Given the description of an element on the screen output the (x, y) to click on. 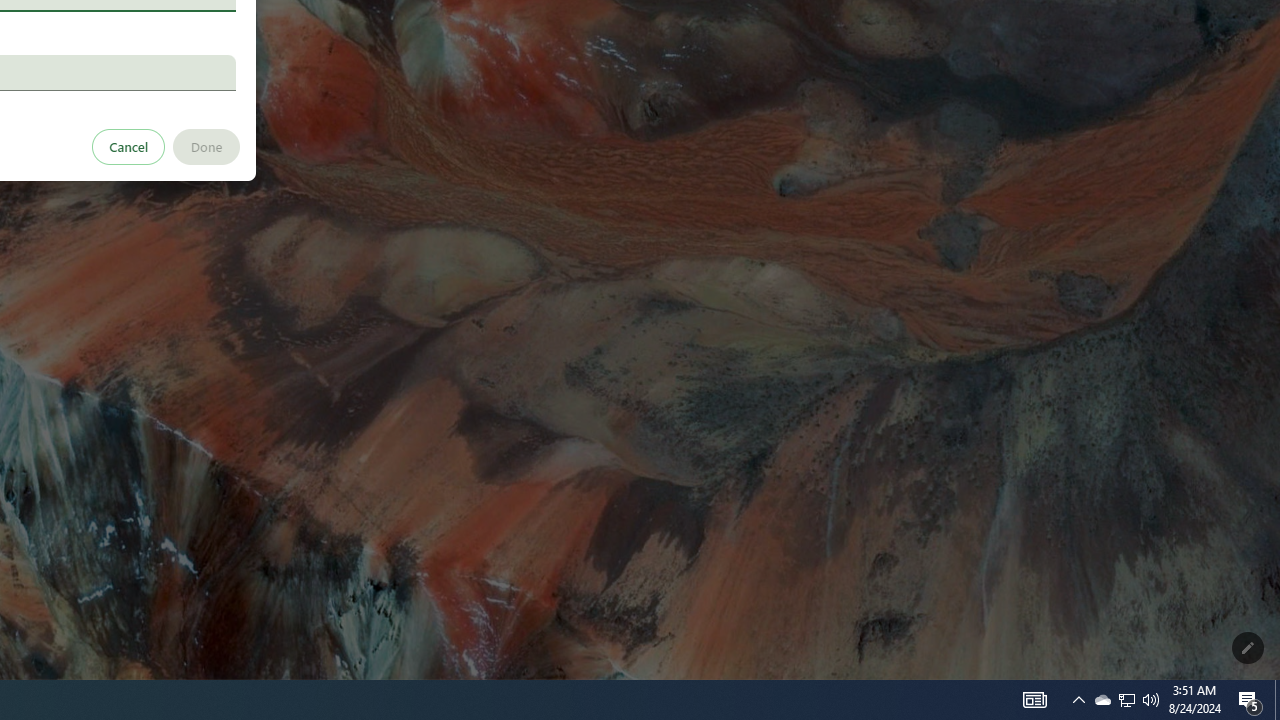
Done (206, 146)
Cancel (129, 146)
